Given the description of an element on the screen output the (x, y) to click on. 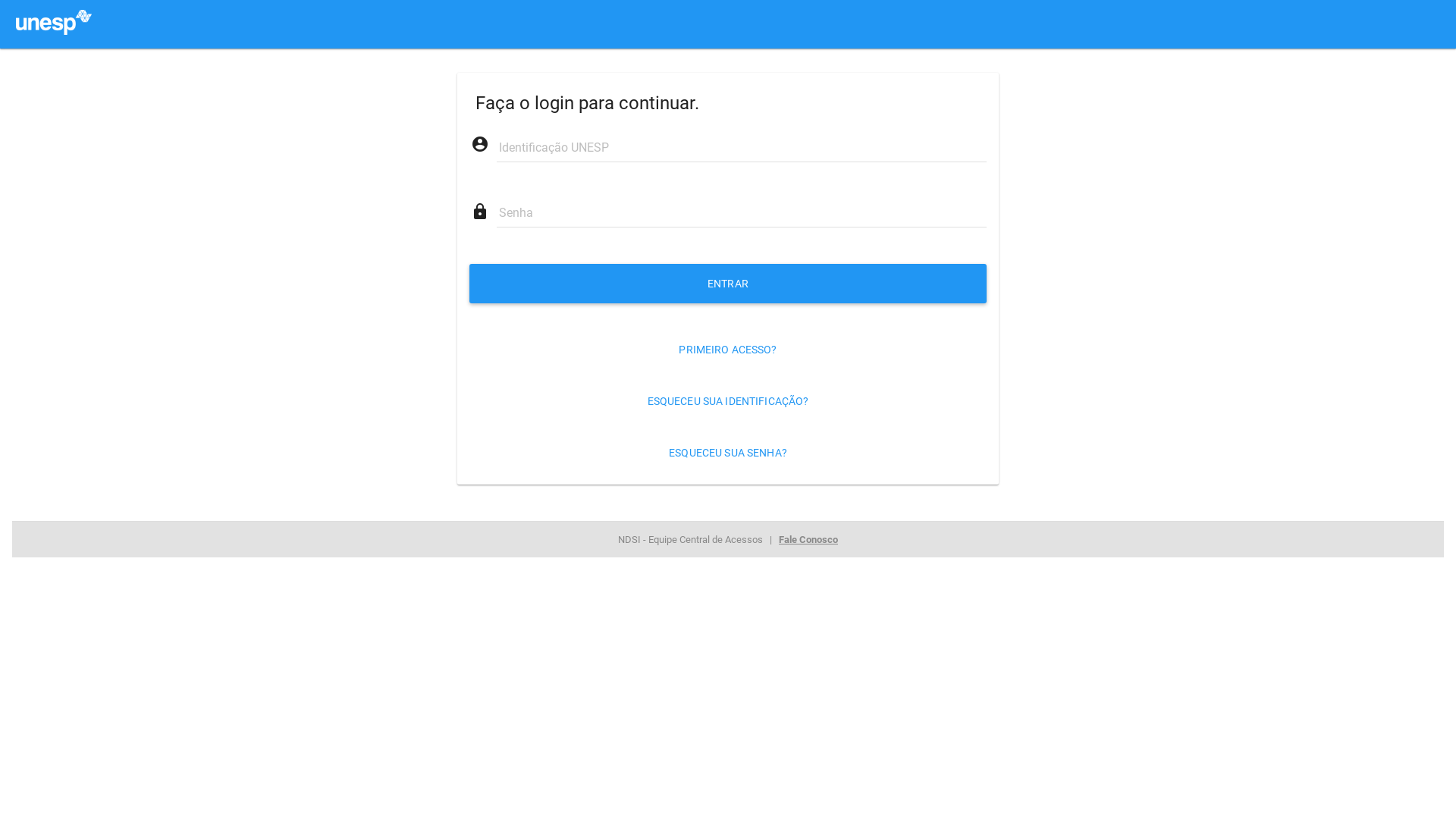
ESQUECEU SUA SENHA? Element type: text (727, 452)
Fale Conosco Element type: text (807, 539)
ENTRAR Element type: text (727, 283)
PRIMEIRO ACESSO? Element type: text (727, 349)
